Given the description of an element on the screen output the (x, y) to click on. 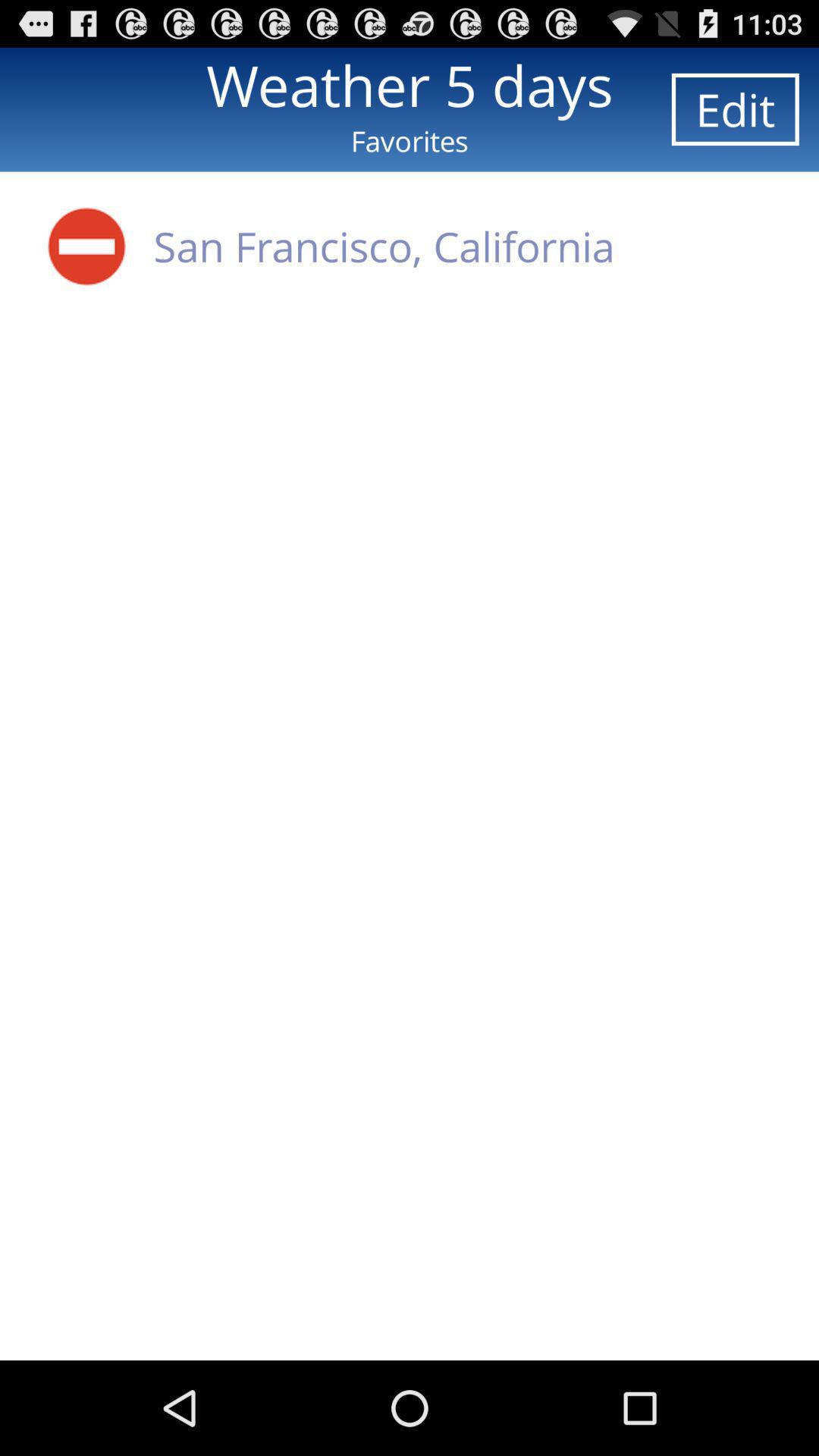
select icon below favorites icon (86, 245)
